Given the description of an element on the screen output the (x, y) to click on. 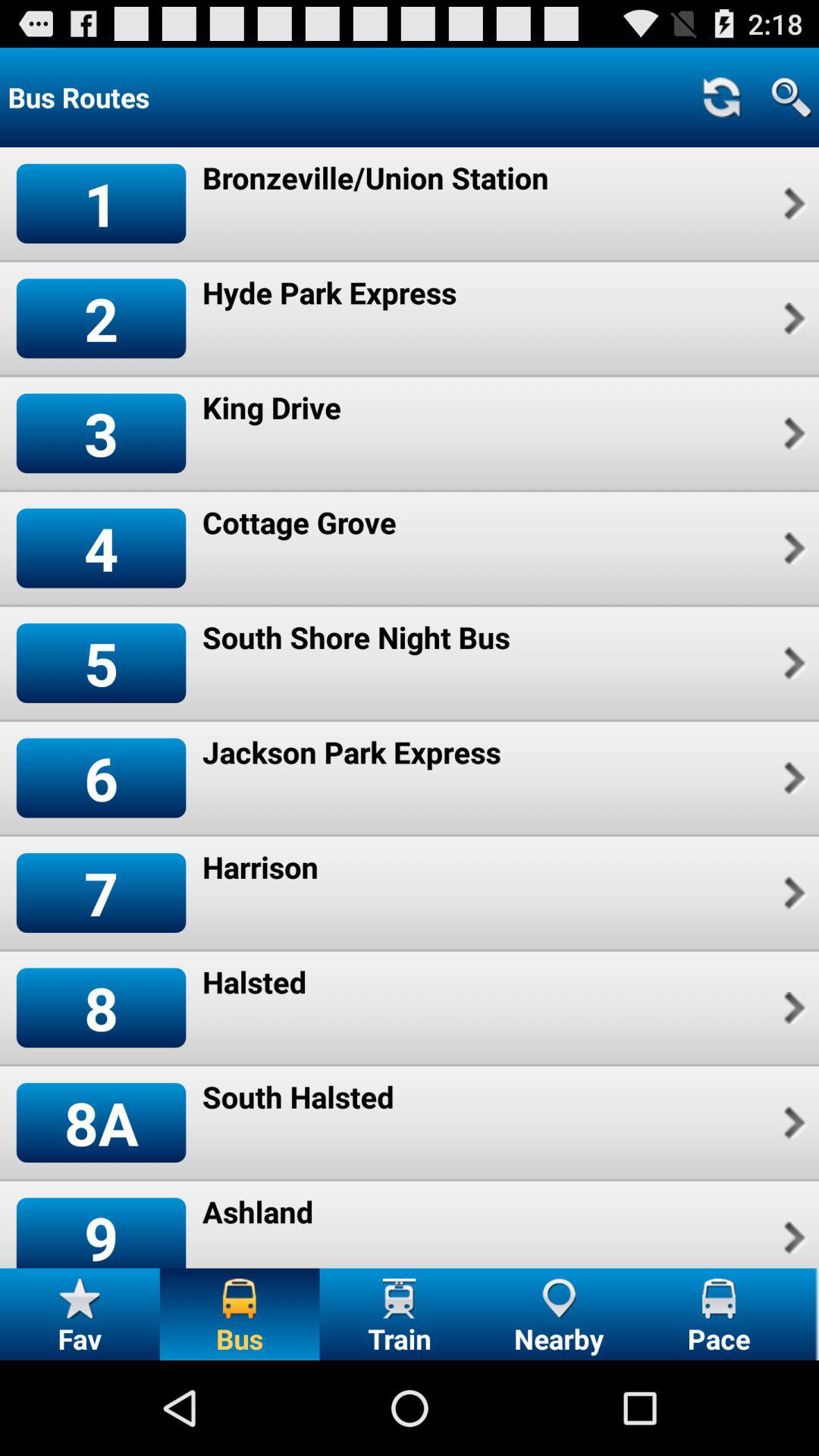
flip to bronzeville/union station icon (375, 177)
